Given the description of an element on the screen output the (x, y) to click on. 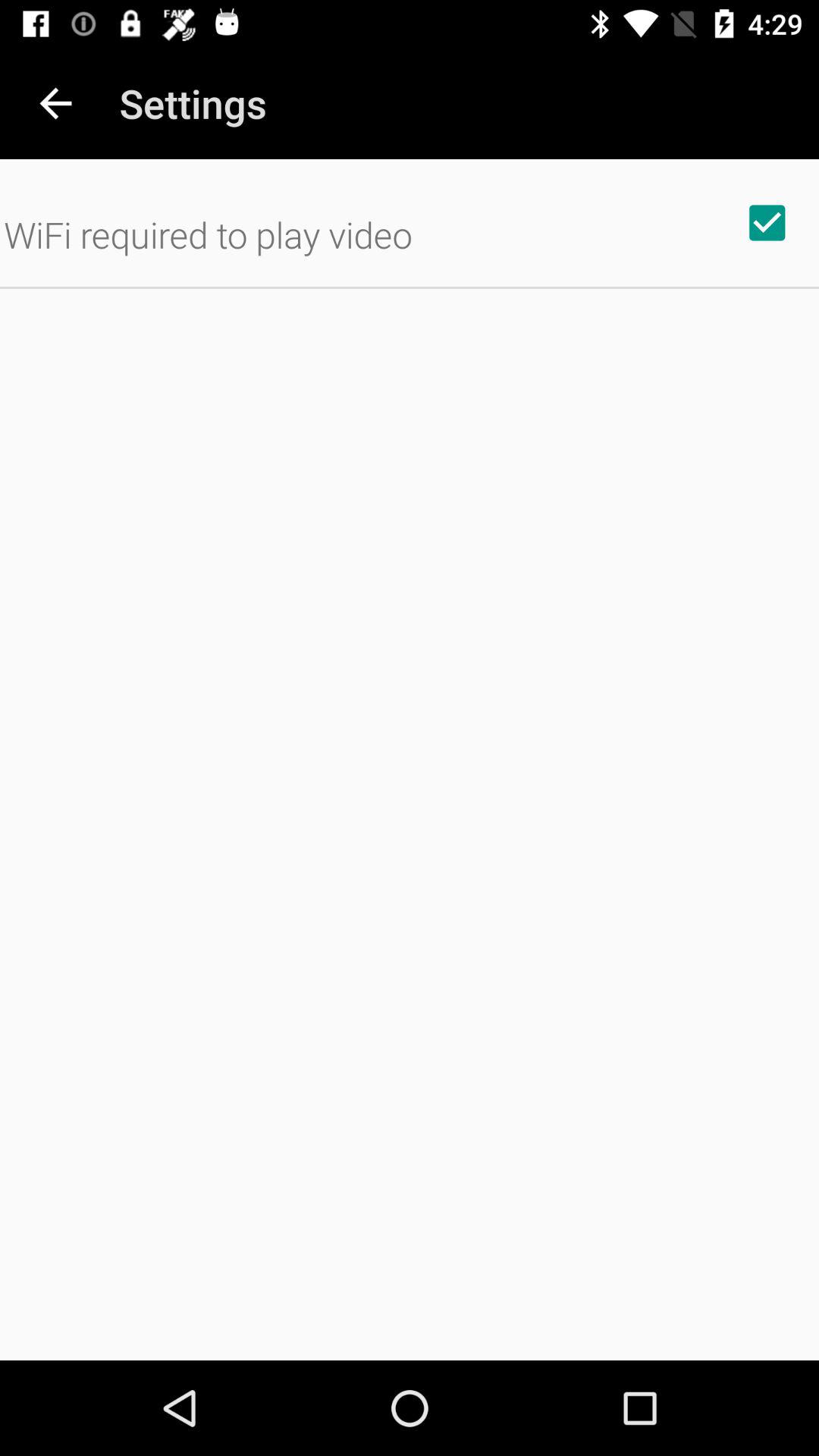
turn off icon next to the settings item (55, 103)
